Given the description of an element on the screen output the (x, y) to click on. 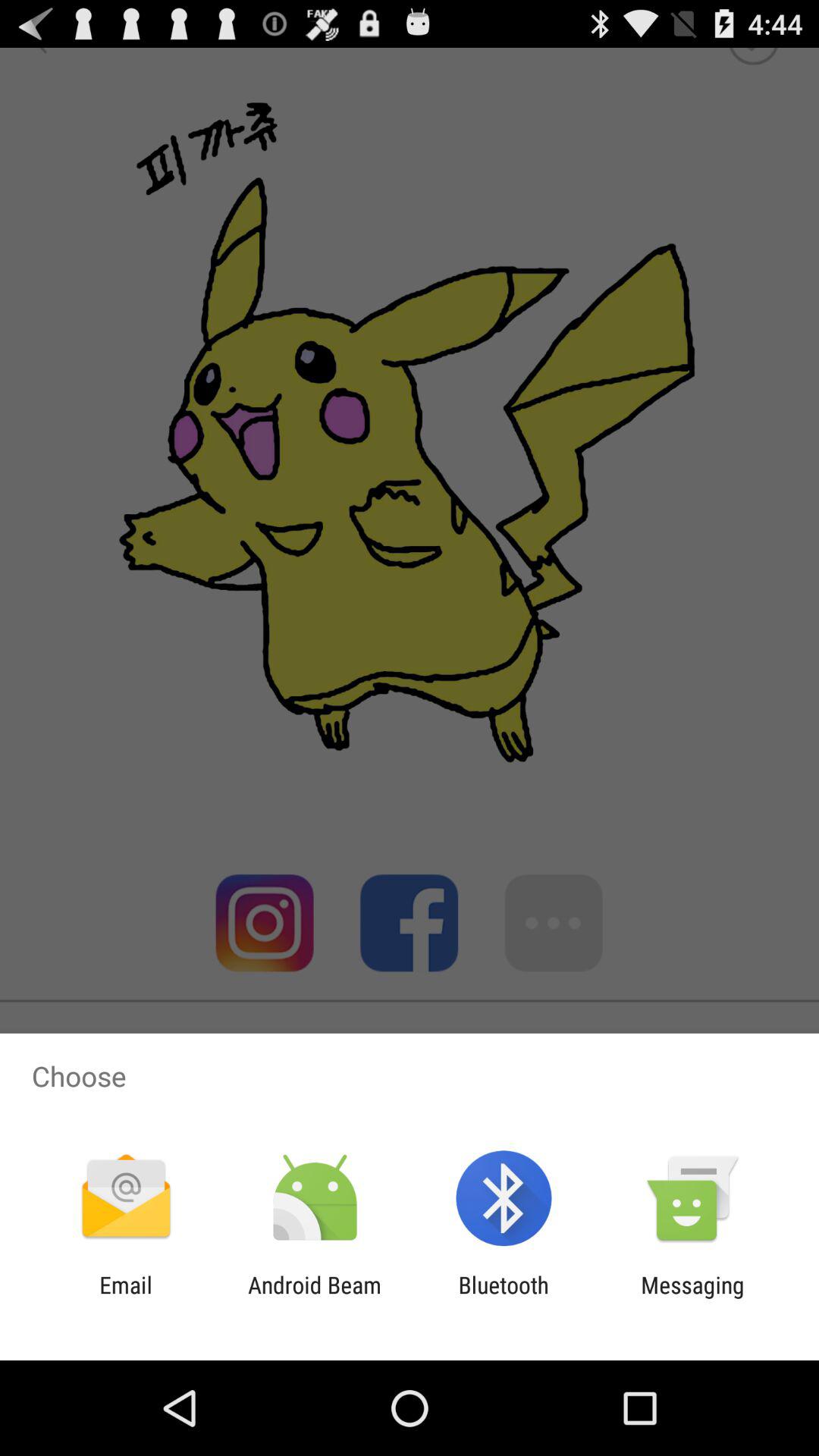
flip until bluetooth (503, 1298)
